Given the description of an element on the screen output the (x, y) to click on. 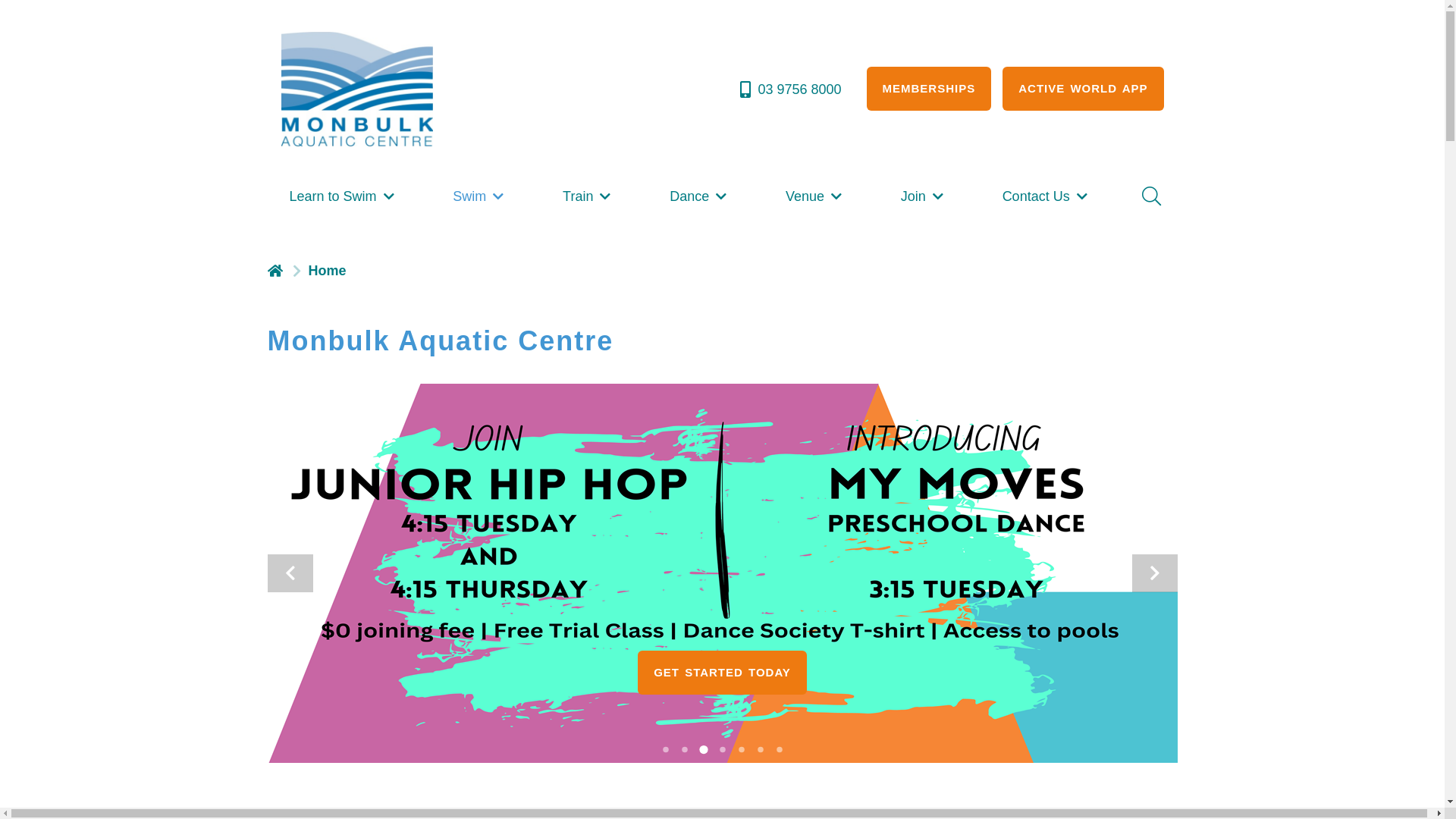
Join Element type: text (923, 196)
Swim Element type: text (479, 196)
Venue Element type: text (814, 196)
Contact Us Element type: text (1046, 196)
MEMBERSHIPS Element type: text (928, 88)
Search Element type: text (1150, 196)
Learn to Swim Element type: text (342, 196)
ACTIVE WORLD APP Element type: text (1082, 88)
Dance Element type: text (699, 196)
  Element type: text (275, 269)
Next Element type: text (1153, 573)
03 9756 8000 Element type: text (788, 89)
Train Element type: text (587, 196)
Prev Element type: text (289, 573)
